Given the description of an element on the screen output the (x, y) to click on. 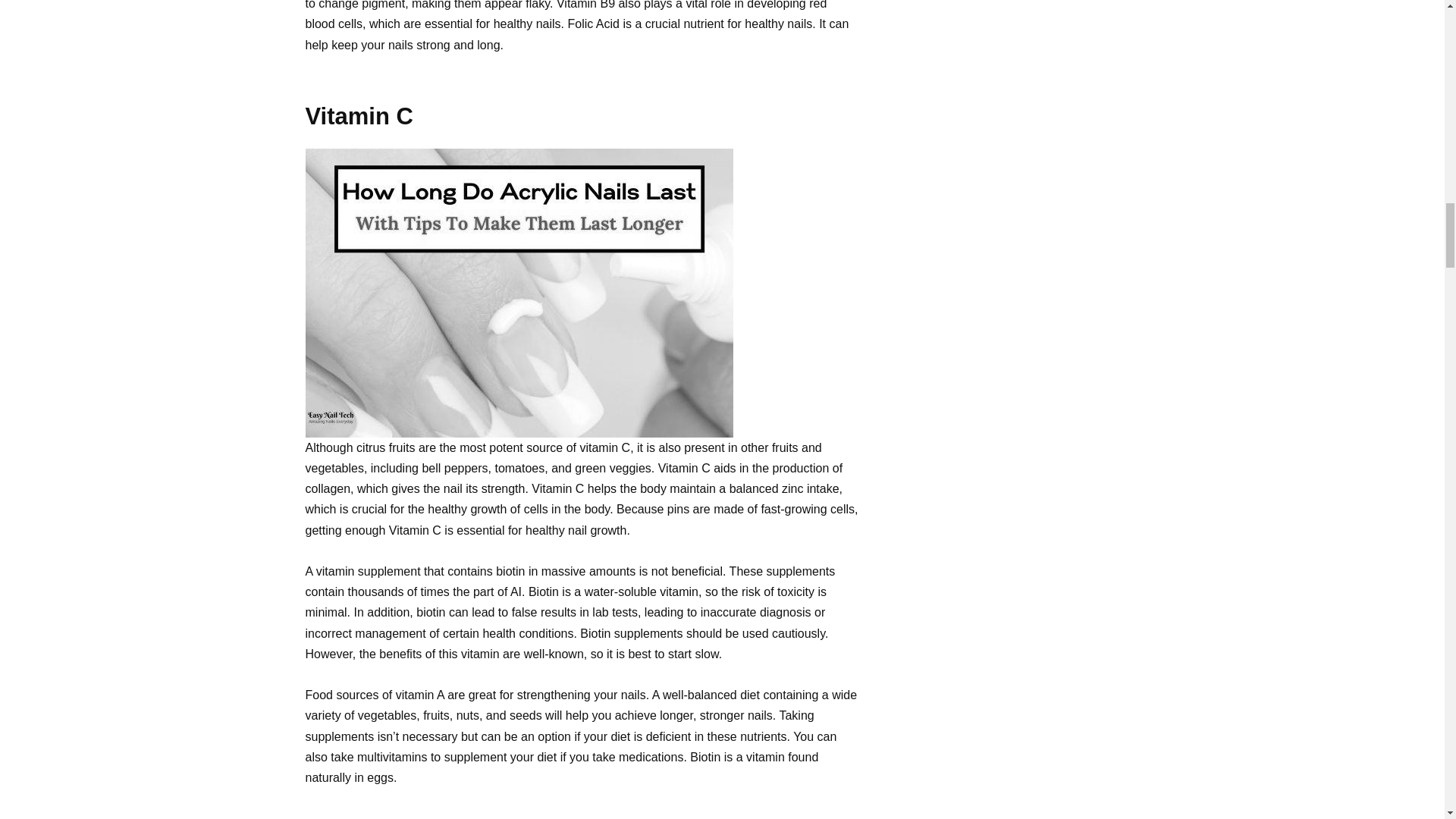
Image How do I get longer nails? 2 (518, 292)
